Given the description of an element on the screen output the (x, y) to click on. 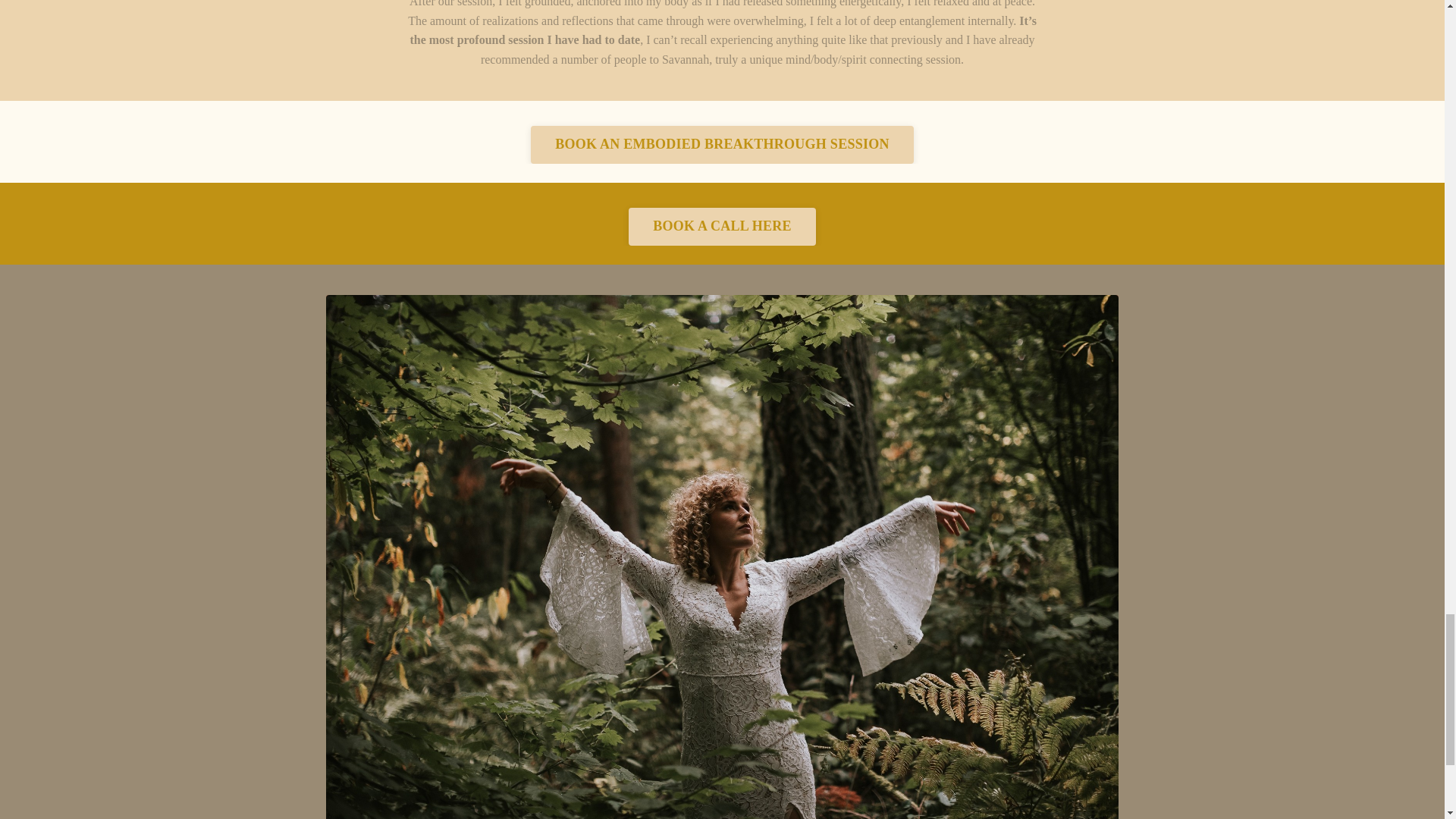
BOOK AN EMBODIED BREAKTHROUGH SESSION (721, 144)
BOOK A CALL HERE (721, 226)
